Given the description of an element on the screen output the (x, y) to click on. 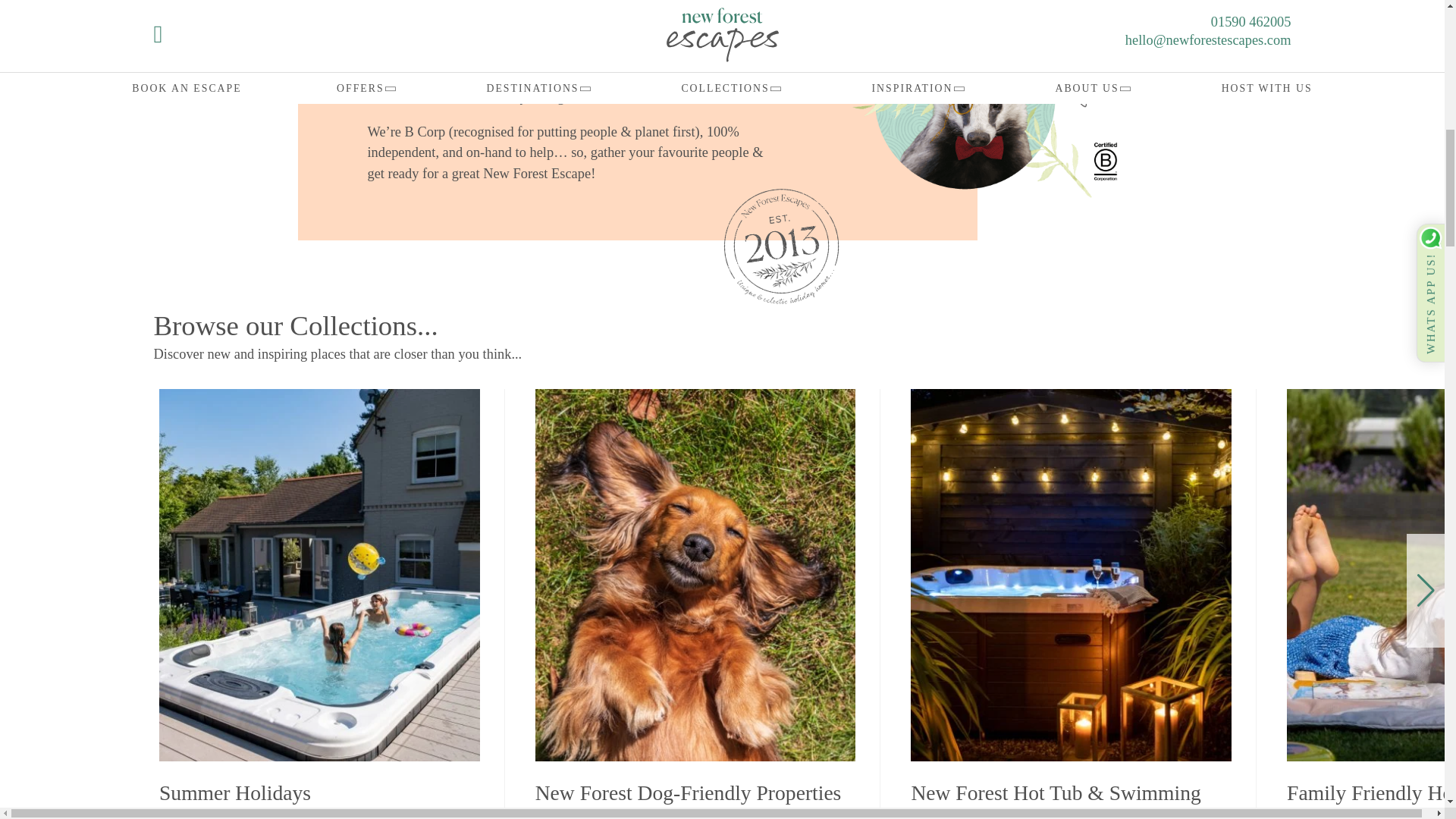
New Forest Escapes - New Forest Dog-Friendly Properties (695, 792)
New Forest Escapes - Summer Holidays (319, 792)
